Given the description of an element on the screen output the (x, y) to click on. 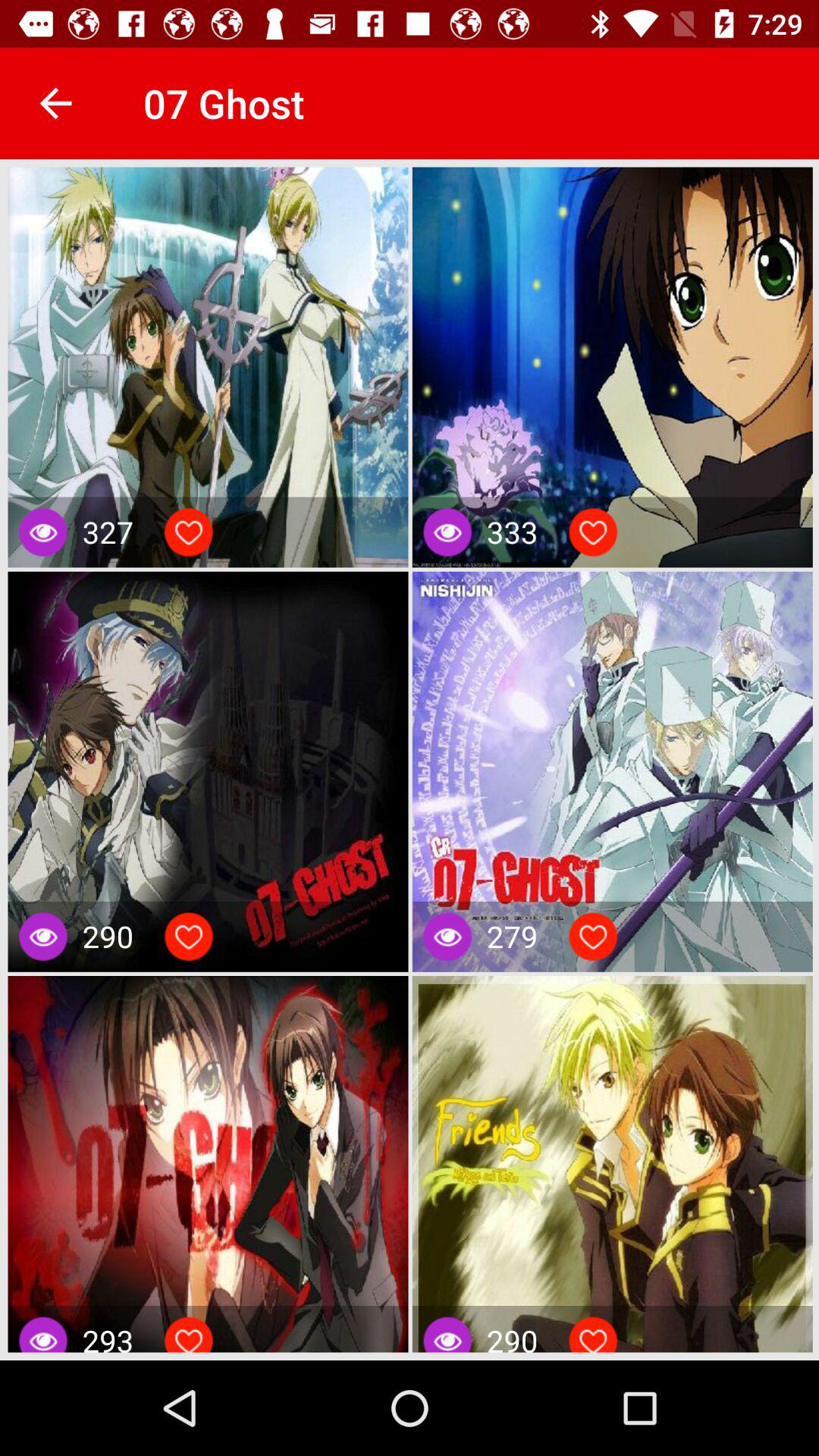
like an item (188, 936)
